Given the description of an element on the screen output the (x, y) to click on. 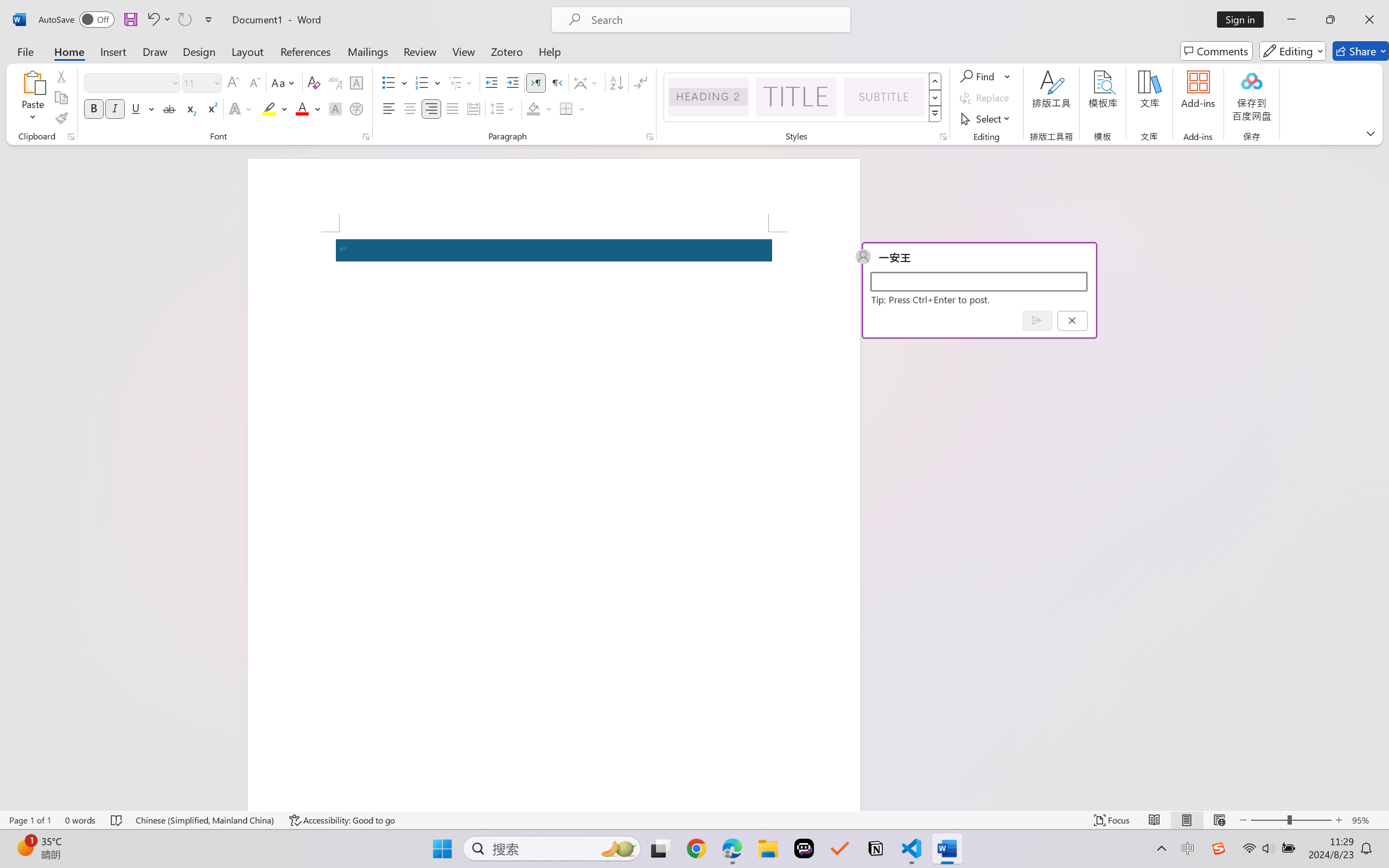
Undo (158, 19)
Cancel (1072, 320)
Font Color RGB(255, 0, 0) (302, 108)
